Given the description of an element on the screen output the (x, y) to click on. 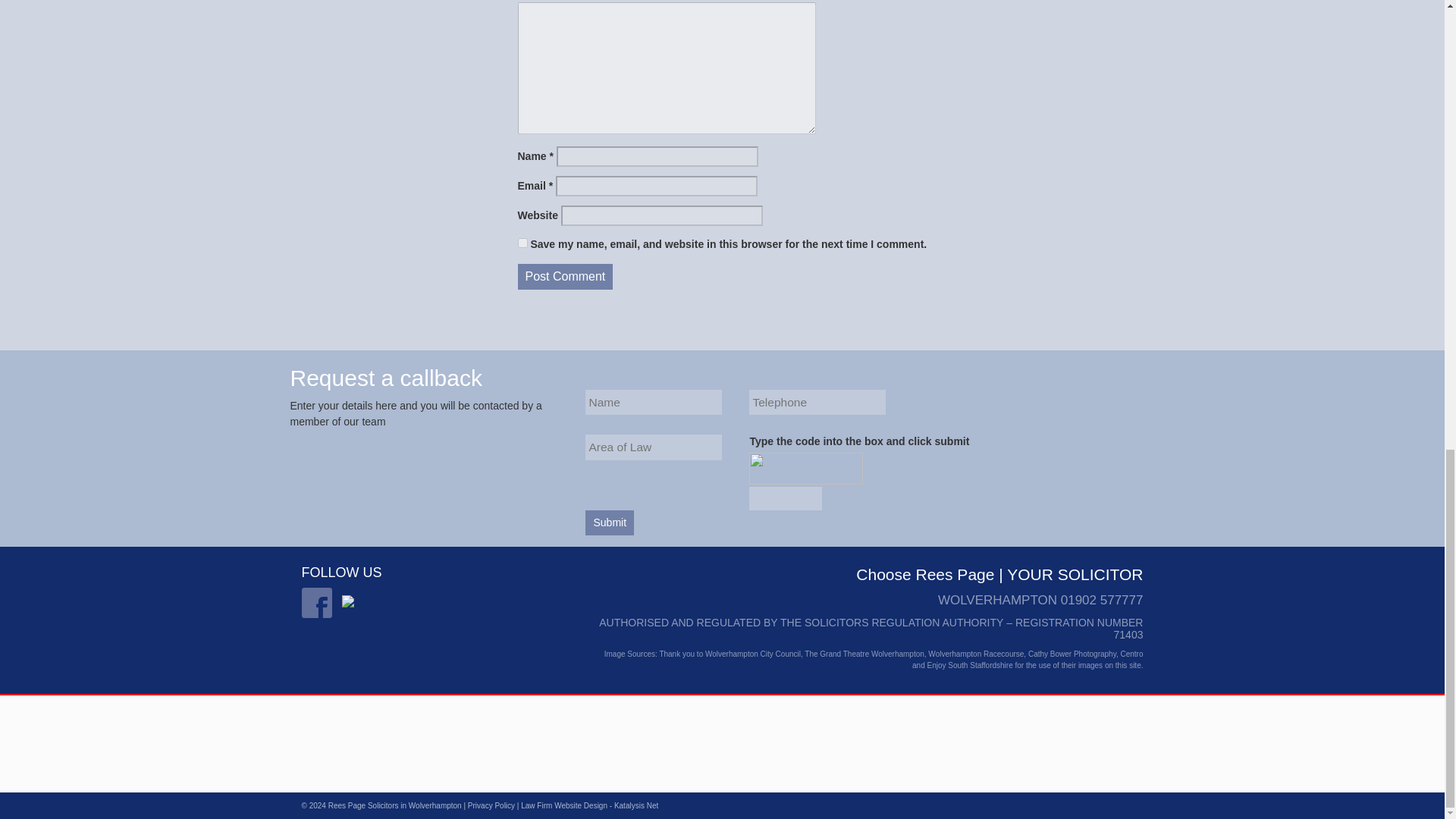
yes (521, 243)
Post Comment (564, 276)
Follow us on Twitter (363, 602)
Follow us on Facebook (316, 603)
Submit (609, 522)
